Given the description of an element on the screen output the (x, y) to click on. 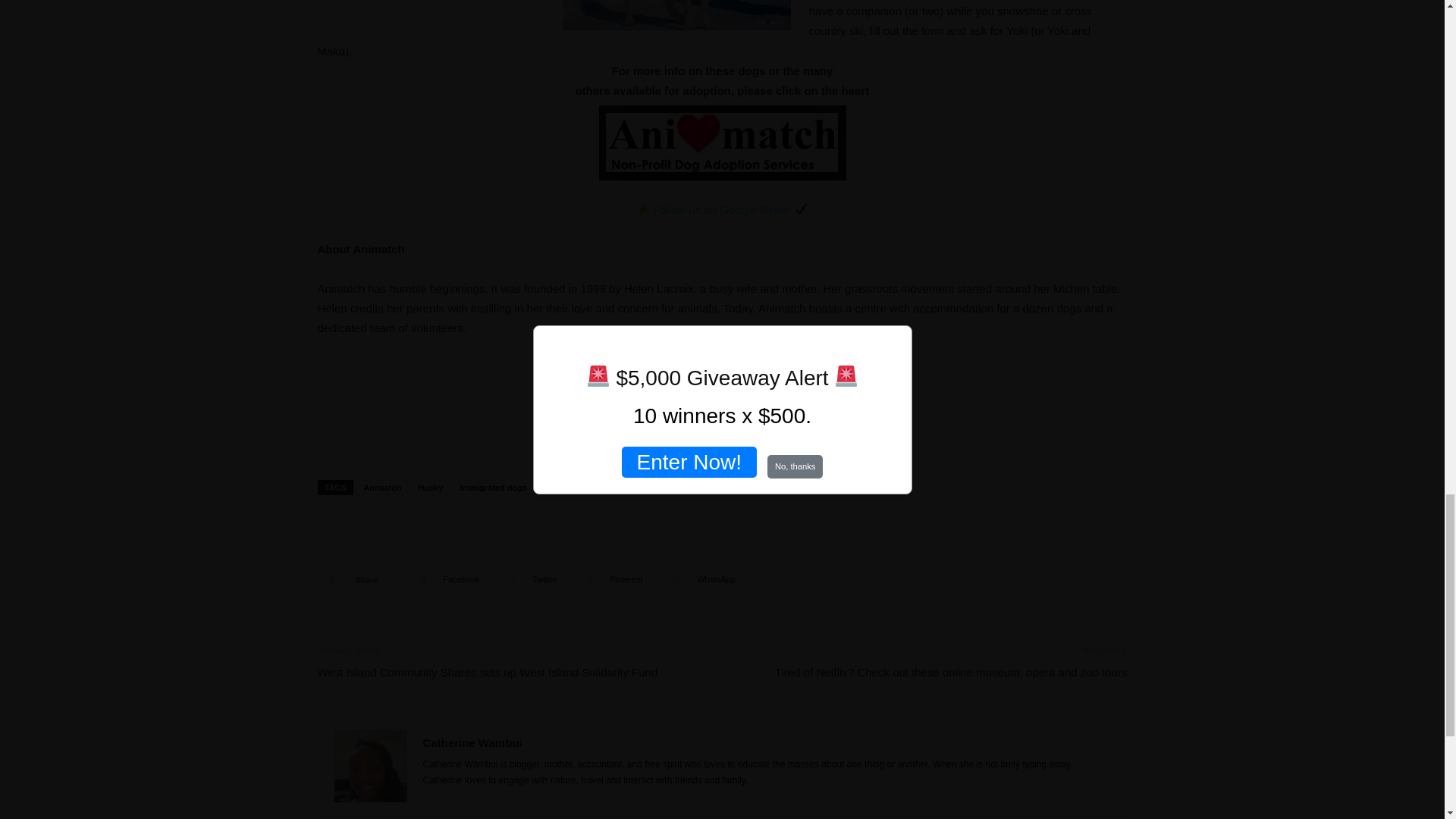
Pinterest (615, 579)
Twitter (533, 579)
Facebook (450, 579)
WhatsApp (705, 579)
Follow us on Google News! (722, 209)
Animatch (381, 487)
